Given the description of an element on the screen output the (x, y) to click on. 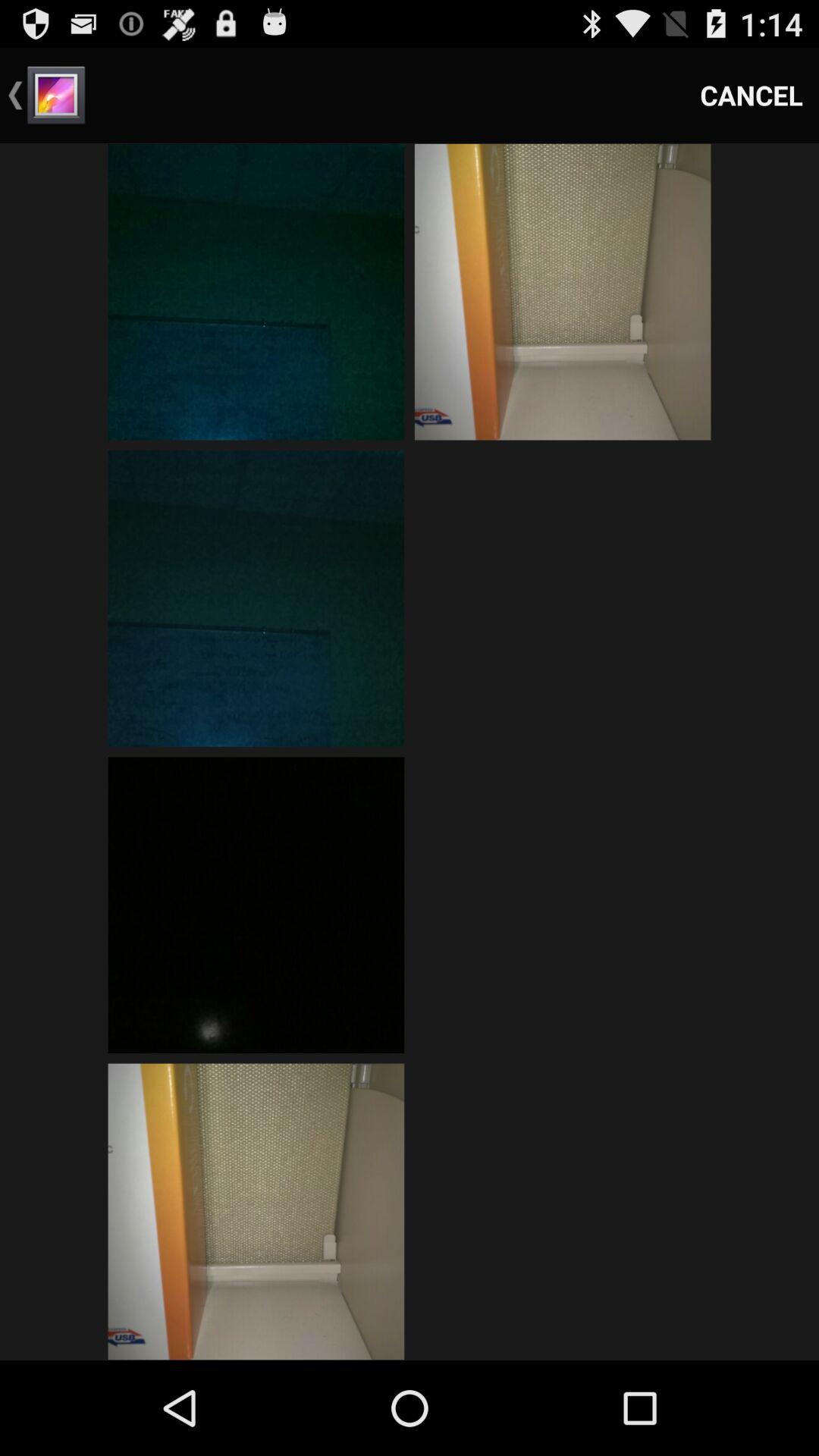
flip until cancel (751, 95)
